Given the description of an element on the screen output the (x, y) to click on. 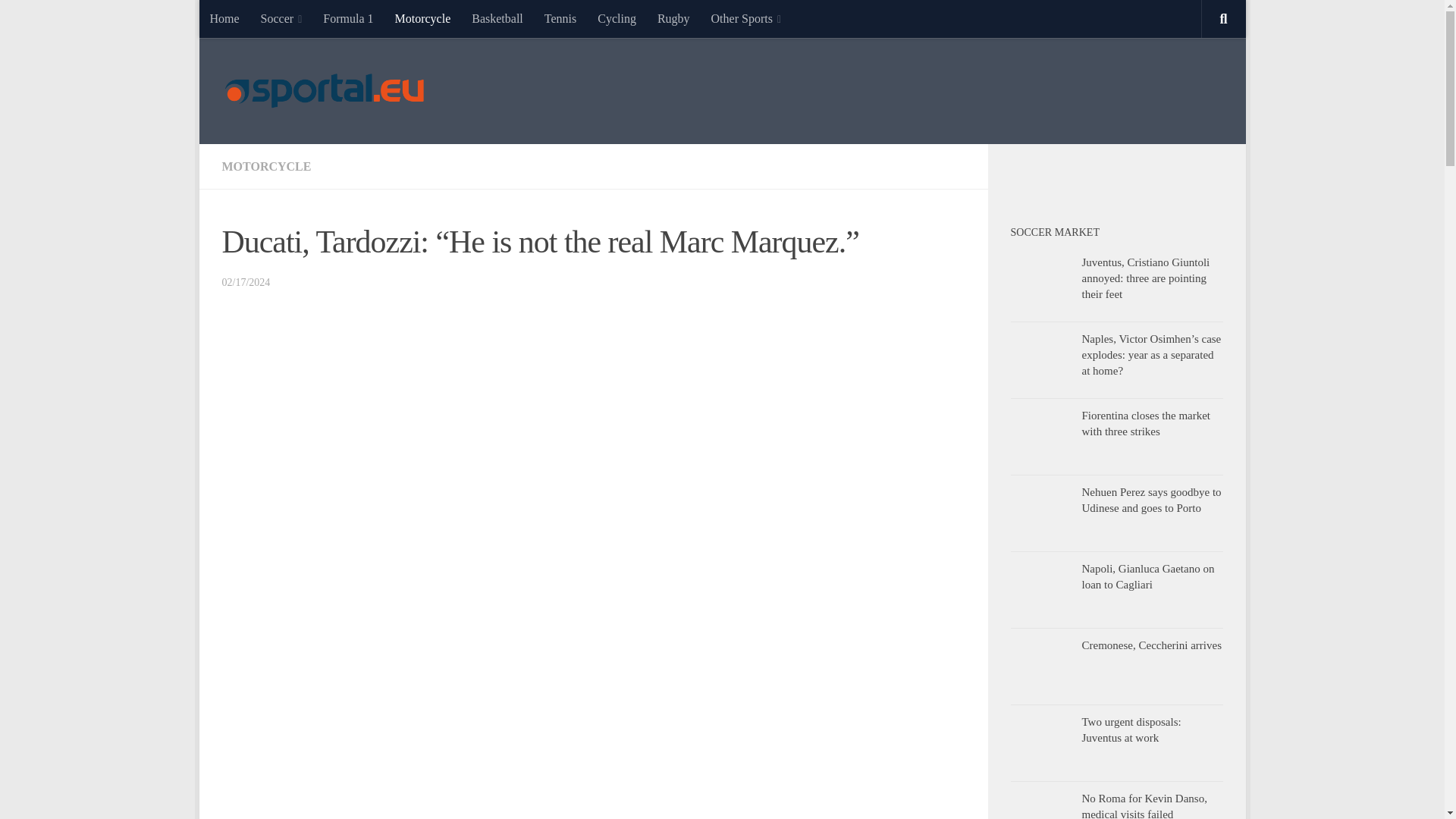
Other Sports (746, 18)
MOTORCYCLE (266, 165)
Skip to content (258, 20)
Basketball (497, 18)
Rugby (673, 18)
Soccer (281, 18)
Cycling (616, 18)
Tennis (560, 18)
Formula 1 (348, 18)
Motorcycle (422, 18)
